Given the description of an element on the screen output the (x, y) to click on. 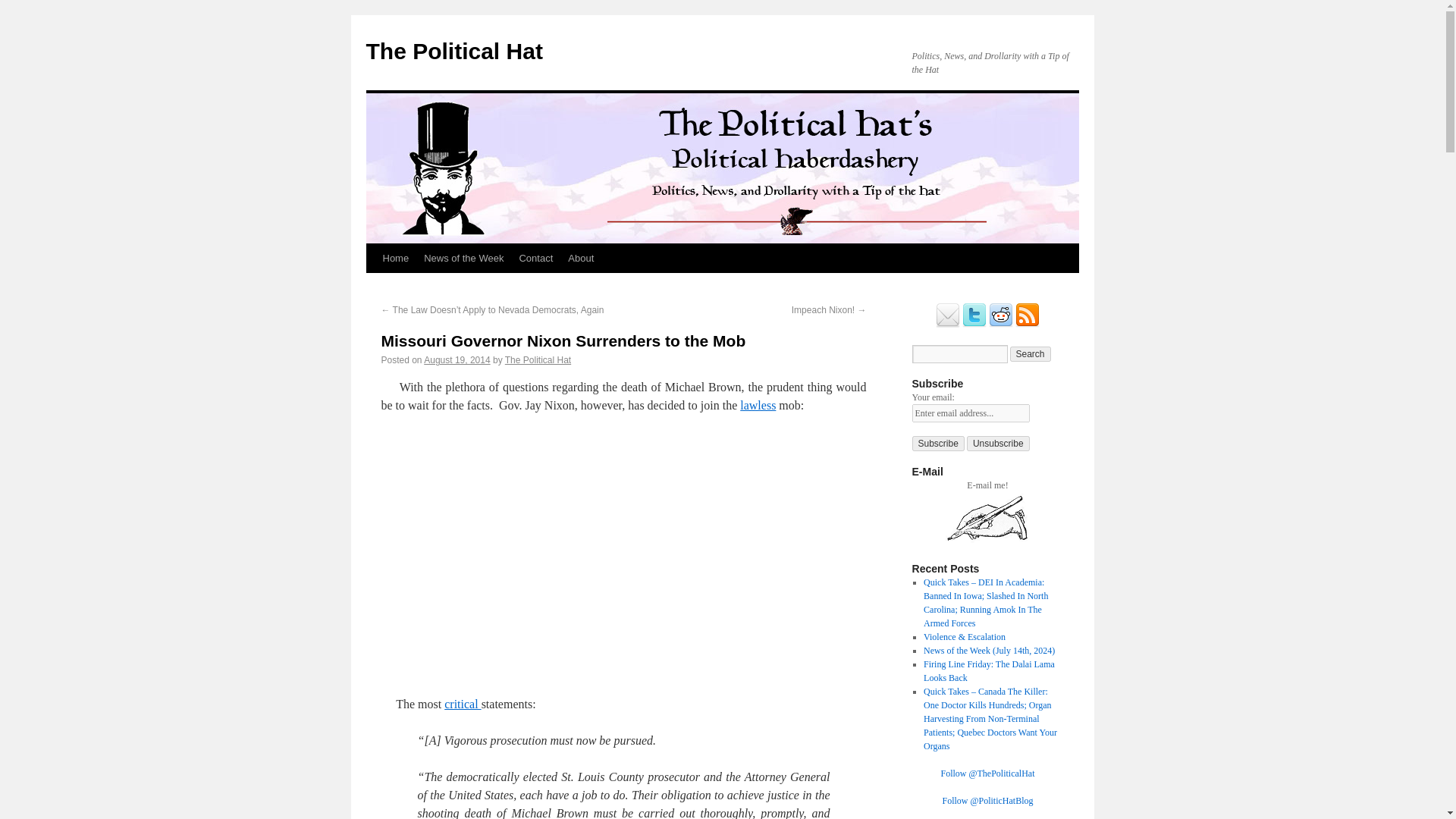
The Political Hat (453, 50)
Blog Twitter Feed (974, 324)
The Political Hat (537, 359)
Search (1030, 353)
Unsubscribe (997, 443)
E-Mail Me (987, 541)
RSS (1026, 324)
Subscribe (937, 443)
About (580, 258)
Unsubscribe (997, 443)
E-Mail Me (947, 324)
The Political Hat (453, 50)
Firing Line Friday: The Dalai Lama Looks Back (988, 671)
10:48 PM (456, 359)
Contact (535, 258)
